Given the description of an element on the screen output the (x, y) to click on. 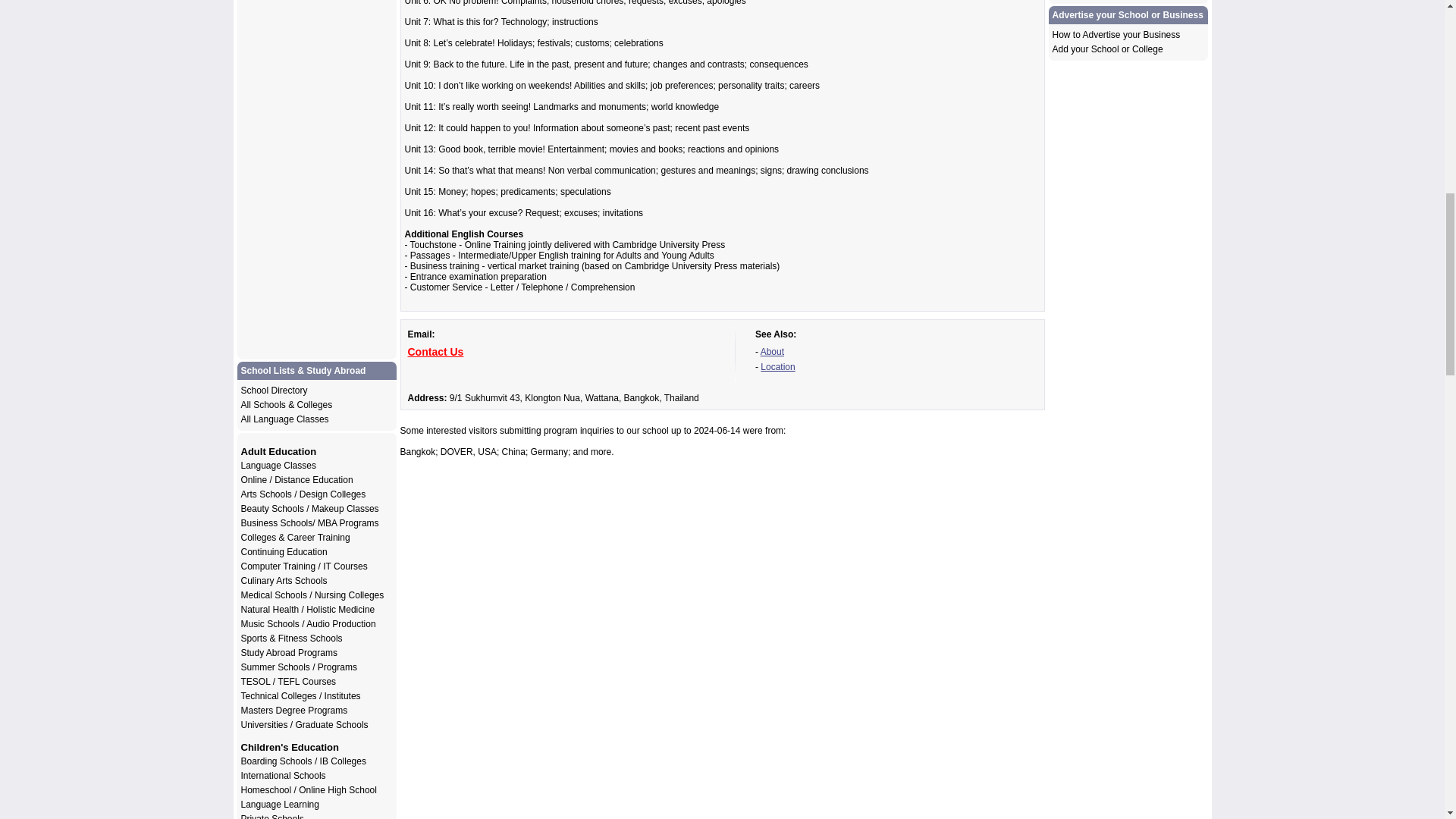
Advertisement (721, 751)
Contact Us (435, 351)
Location (777, 366)
About (772, 351)
